Given the description of an element on the screen output the (x, y) to click on. 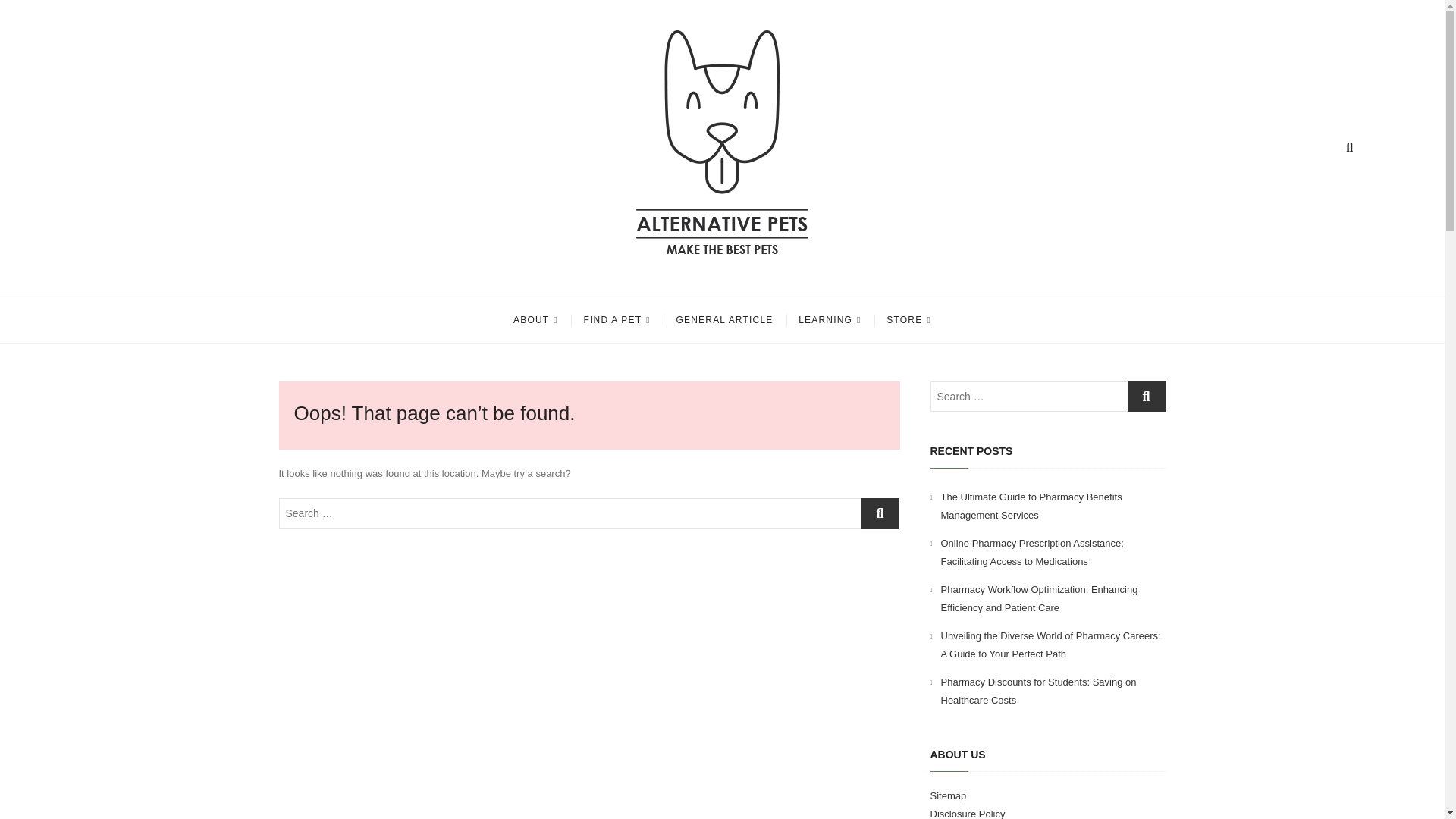
Pharmacy Discounts for Students: Saving on Healthcare Costs (1037, 690)
The Ultimate Guide to Pharmacy Benefits Management Services (1030, 505)
Sitemap (948, 795)
LEARNING (829, 320)
FIND A PET (617, 320)
Alternative Pets (398, 276)
Alternative Pets (398, 276)
GENERAL ARTICLE (723, 320)
ABOUT (535, 320)
STORE (908, 320)
